Given the description of an element on the screen output the (x, y) to click on. 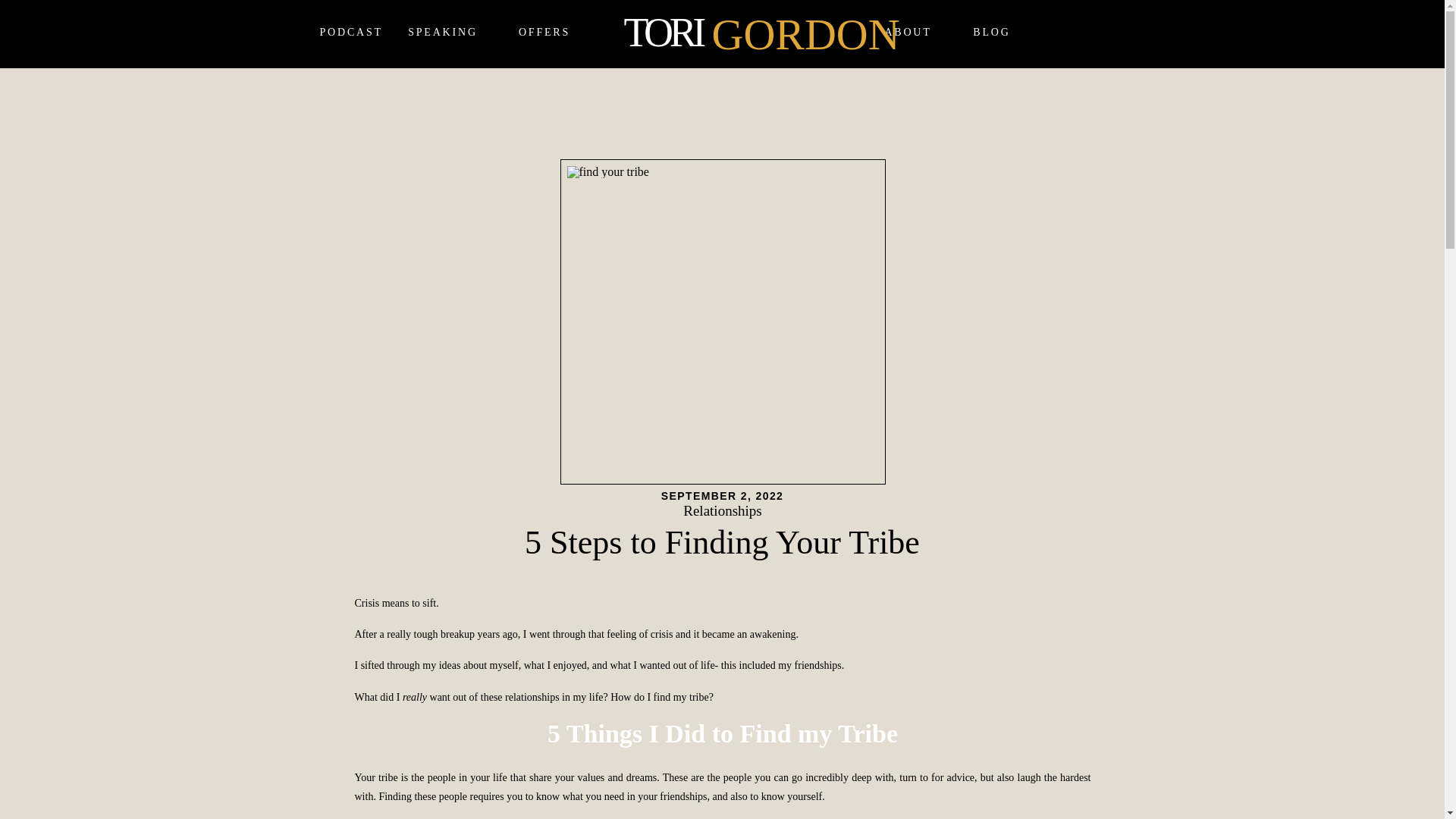
ABOUT (907, 33)
SPEAKING (443, 33)
TORI (685, 28)
GORDON (781, 28)
5 Steps to Finding Your Tribe (723, 322)
OFFERS (544, 33)
PODCAST (350, 33)
BLOG (991, 33)
BOOK TORI (1106, 33)
Relationships (721, 510)
